Given the description of an element on the screen output the (x, y) to click on. 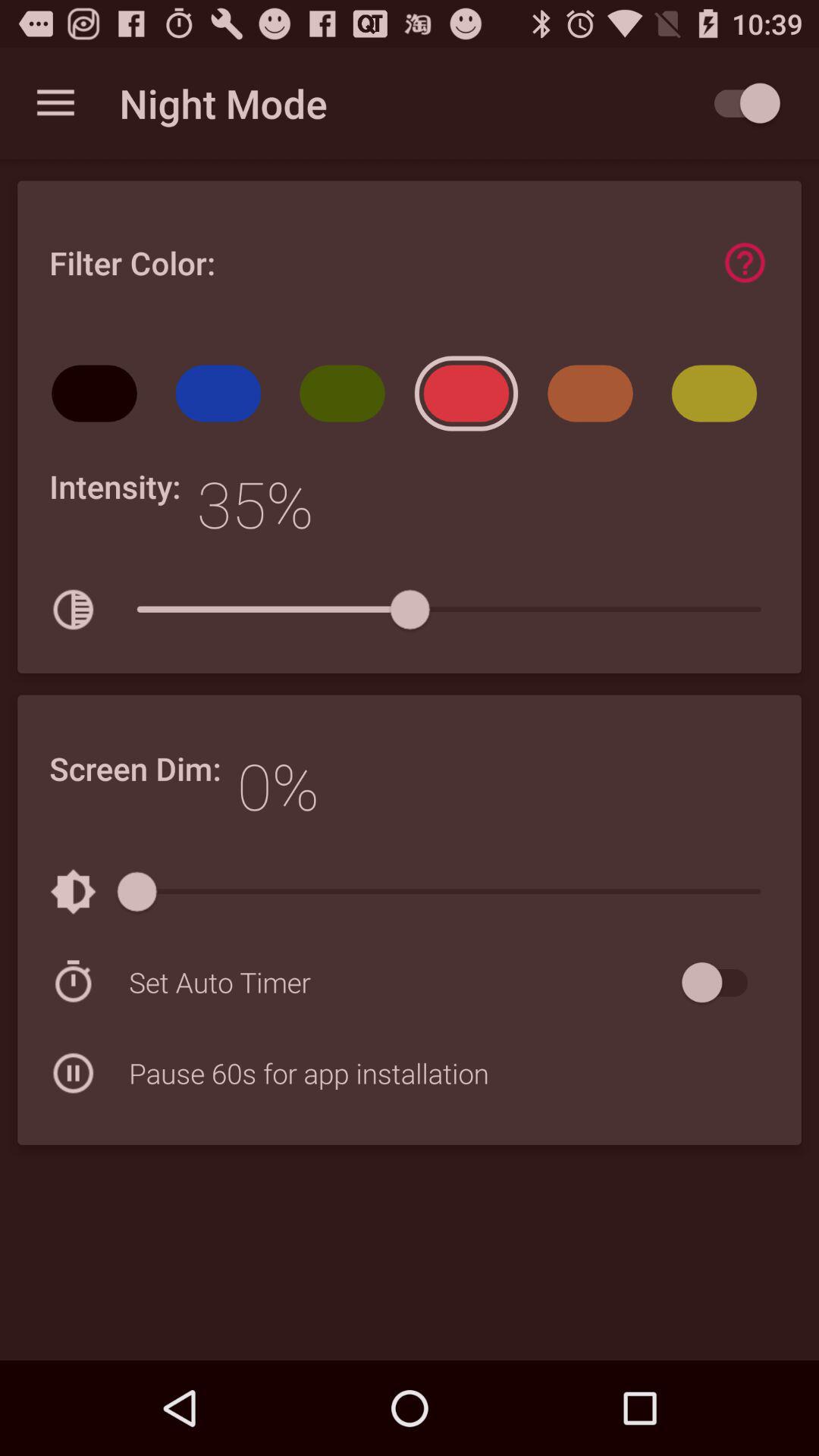
need help (744, 262)
